Given the description of an element on the screen output the (x, y) to click on. 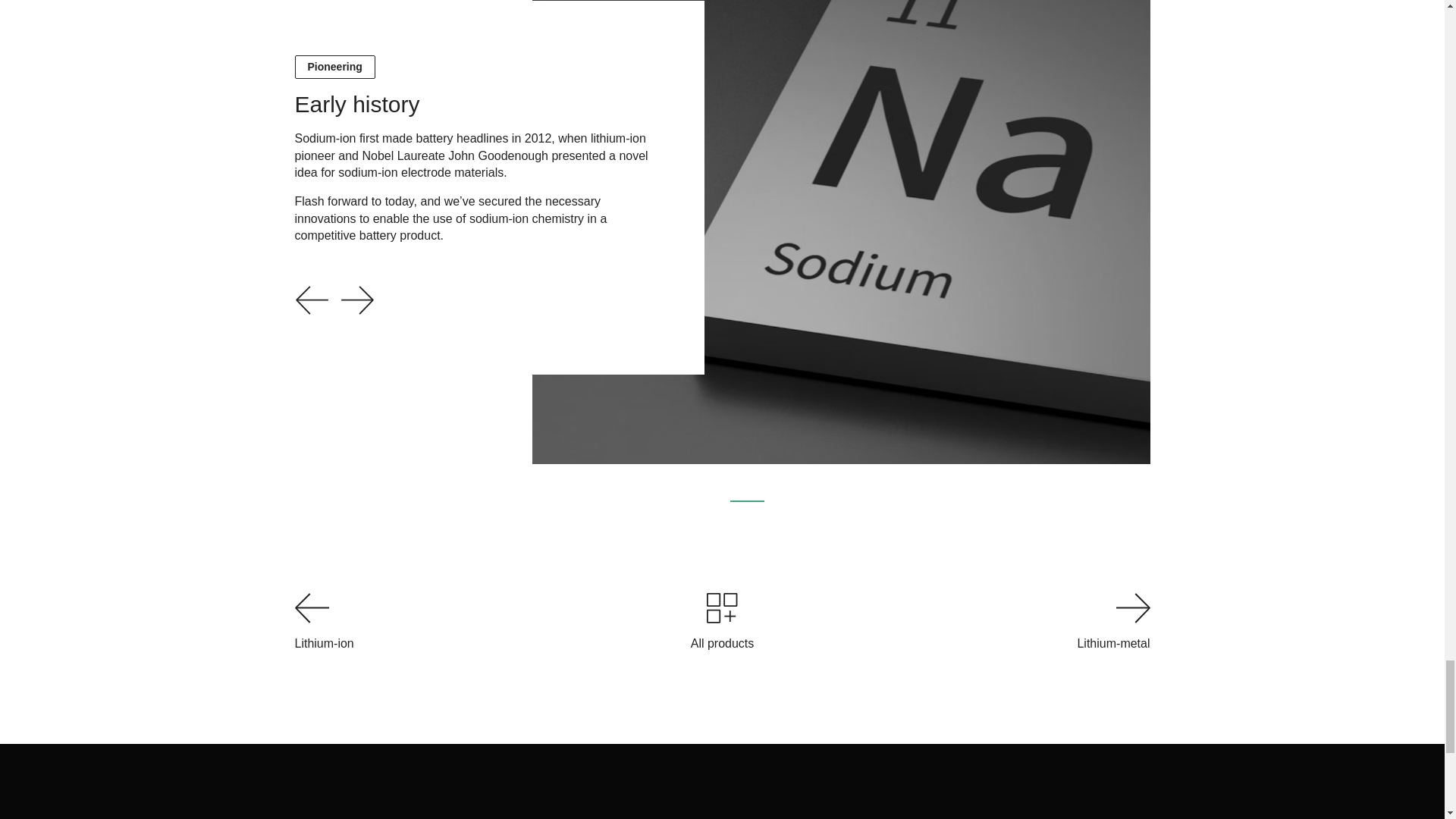
Lithium-ion (492, 621)
All products (722, 621)
Lithium-metal (952, 621)
